Given the description of an element on the screen output the (x, y) to click on. 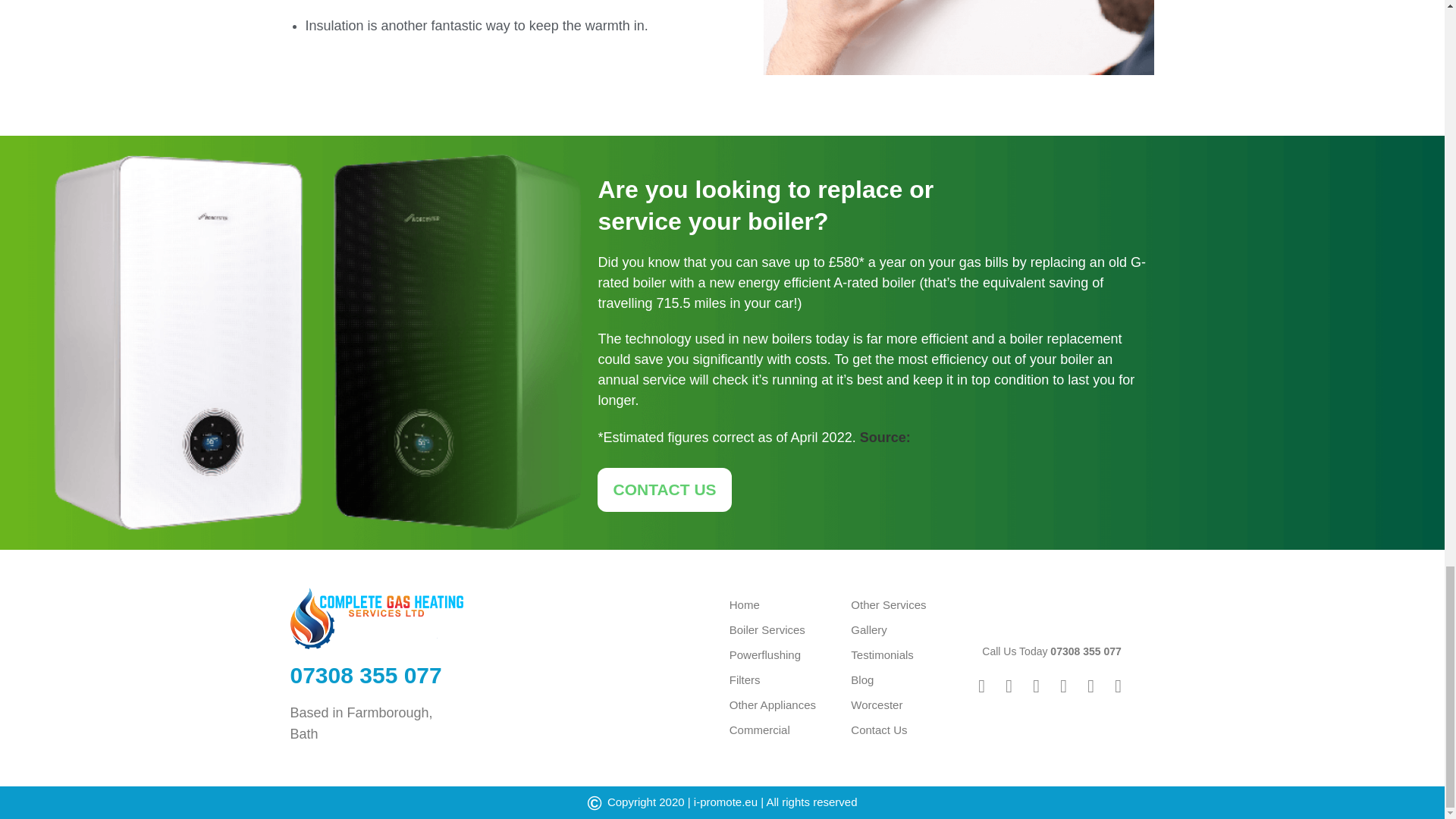
26 Ferenberge Close Bath BA2 0DH (595, 667)
